Given the description of an element on the screen output the (x, y) to click on. 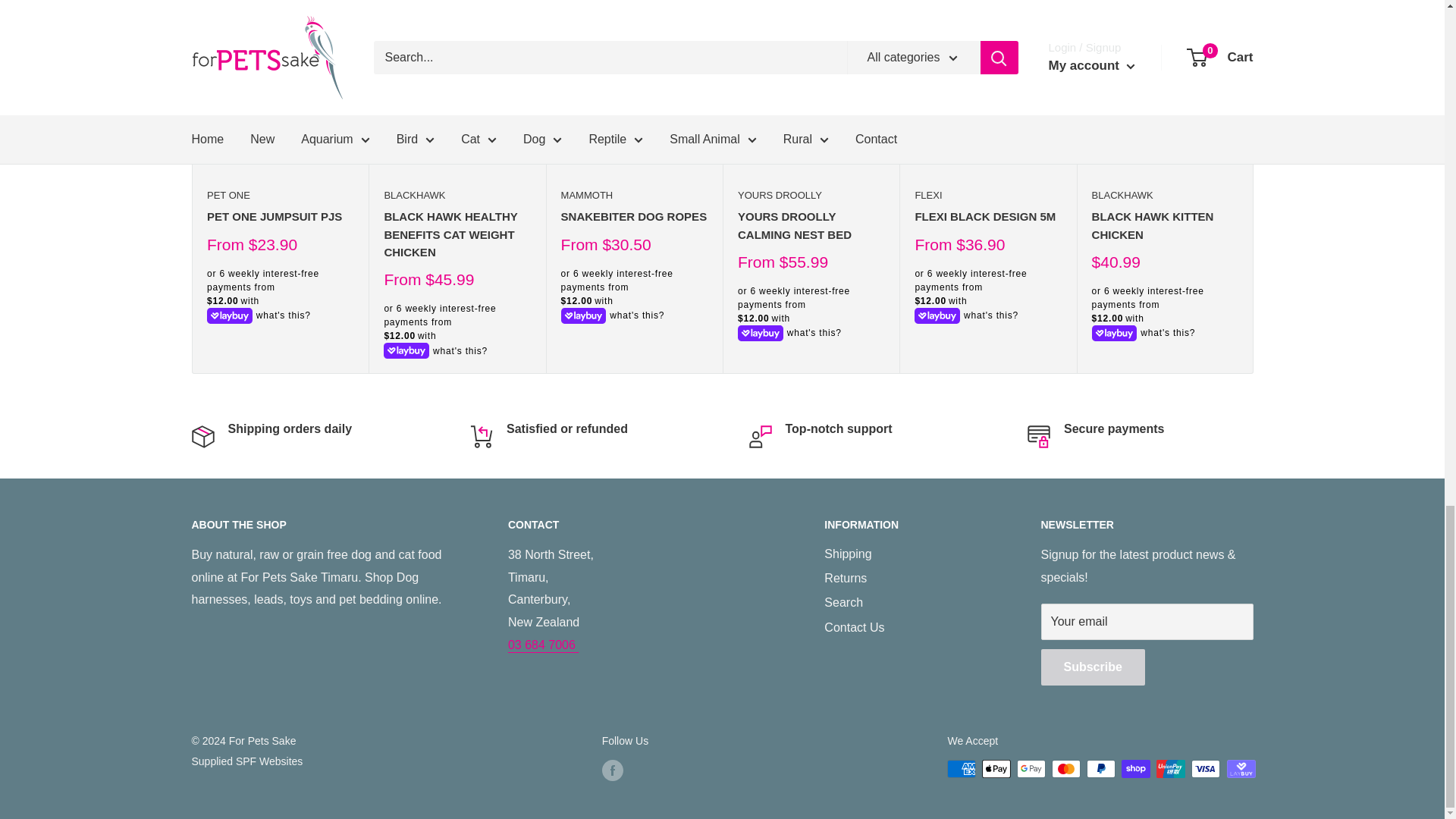
SPF (246, 761)
